Given the description of an element on the screen output the (x, y) to click on. 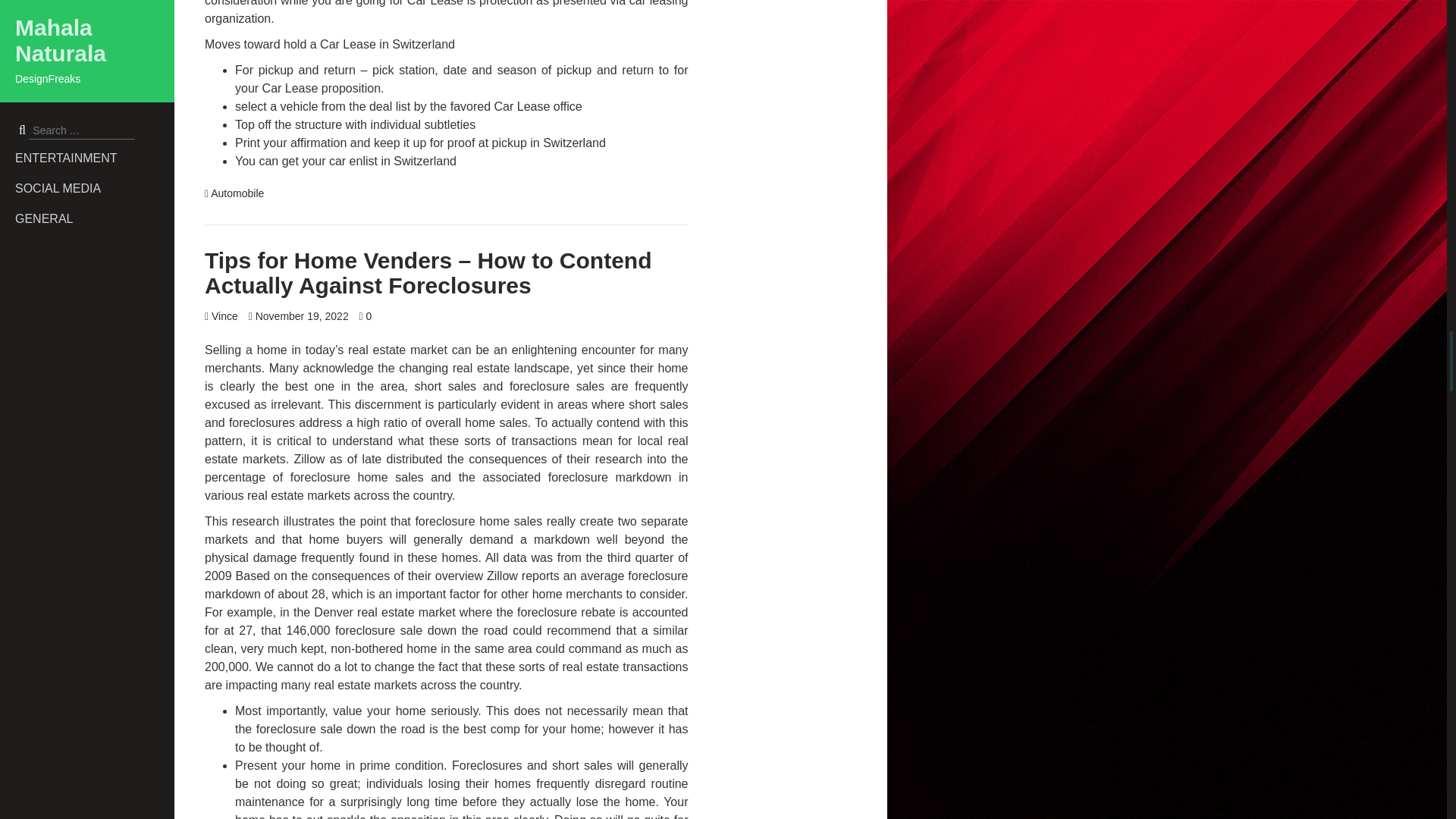
Automobile (237, 193)
Posts by Vince (224, 316)
Vince (224, 316)
